Given the description of an element on the screen output the (x, y) to click on. 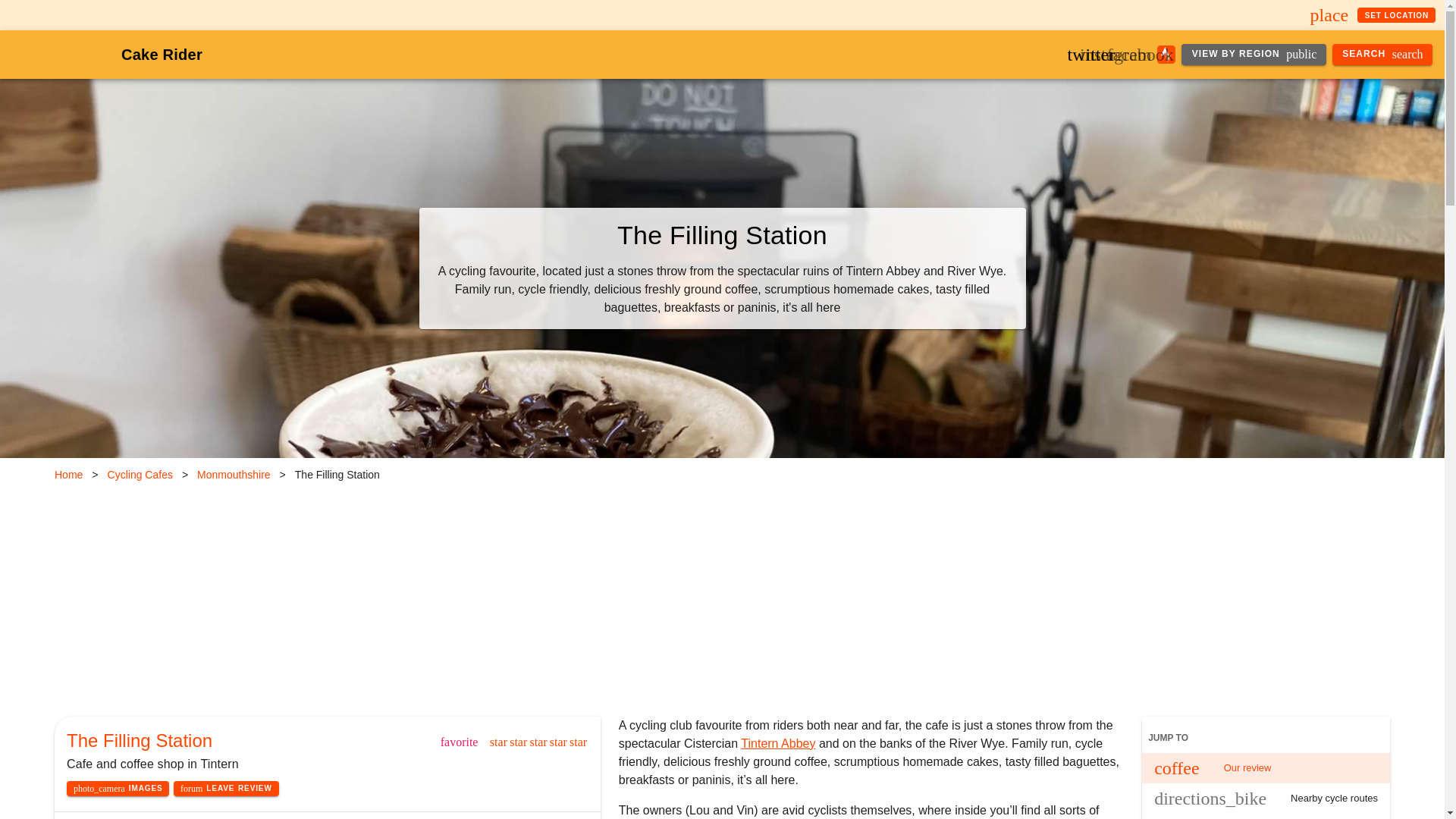
Home (68, 474)
View recommended cycling cafes and routes by region (1252, 54)
Follow Cake Rider on Instagram (1115, 54)
instagram (1115, 54)
Cake Rider (161, 54)
SET LOCATION (1395, 14)
Find Cake Rider on Facebook (1140, 54)
facebook (1140, 54)
Finding the UK's best cycling cafes and cycle routes (161, 54)
